Given the description of an element on the screen output the (x, y) to click on. 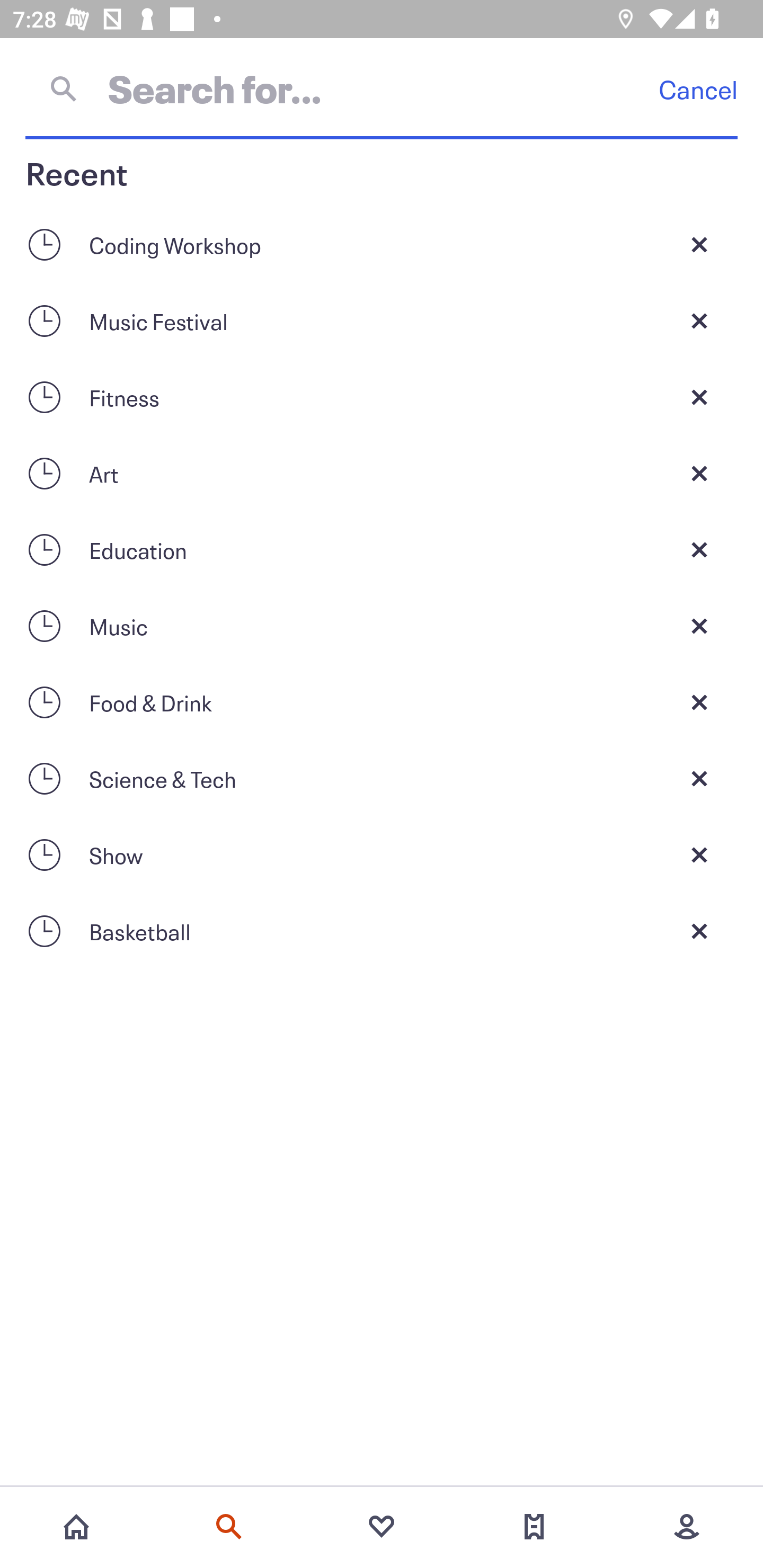
Cancel Search for… (381, 88)
Cancel (697, 89)
Coding Workshop Close current screen (381, 244)
Close current screen (699, 244)
Music Festival Close current screen (381, 320)
Close current screen (699, 320)
Fitness Close current screen (381, 397)
Close current screen (699, 397)
Art Close current screen (381, 473)
Close current screen (699, 473)
Education Close current screen (381, 549)
Close current screen (699, 549)
Music Close current screen (381, 626)
Close current screen (699, 626)
Food & Drink Close current screen (381, 702)
Close current screen (699, 702)
Science & Tech Close current screen (381, 778)
Close current screen (699, 778)
Show Close current screen (381, 854)
Close current screen (699, 854)
Basketball Close current screen (381, 931)
Close current screen (699, 931)
Home (76, 1526)
Search events (228, 1526)
Favorites (381, 1526)
Tickets (533, 1526)
More (686, 1526)
